Given the description of an element on the screen output the (x, y) to click on. 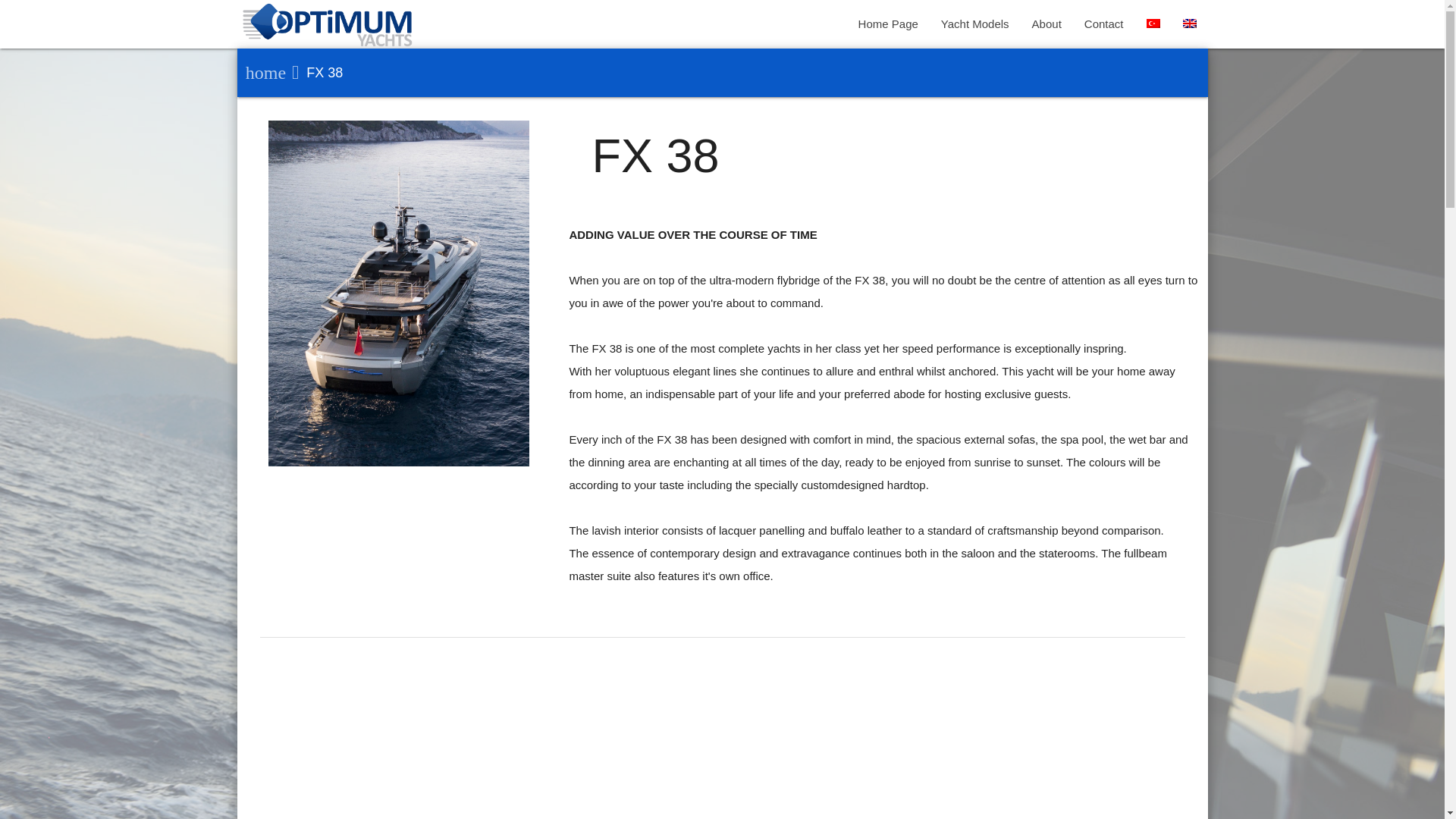
Yacht Models (975, 24)
Optimum Yachting (327, 27)
About (1046, 24)
FX 38 (313, 72)
Home Page (888, 24)
English (1189, 22)
Contact (1104, 24)
